Given the description of an element on the screen output the (x, y) to click on. 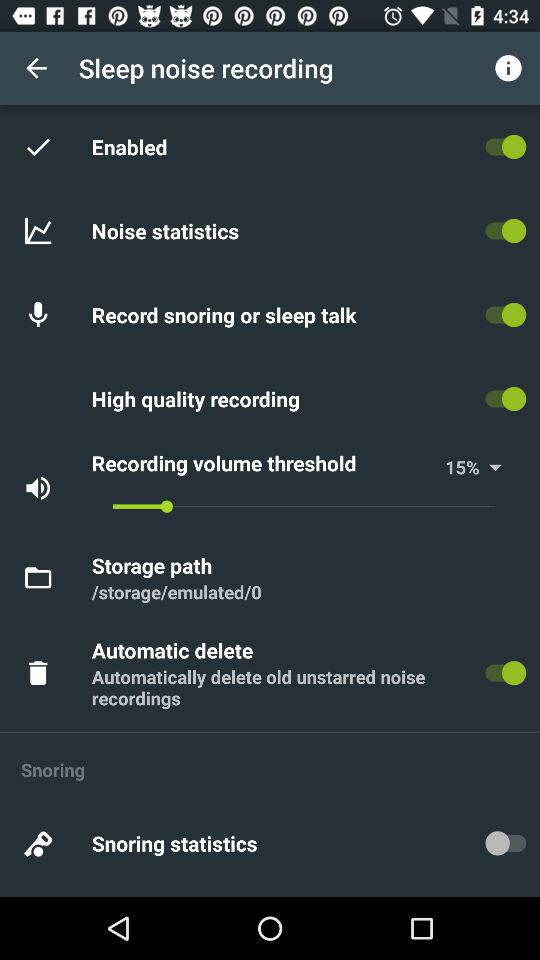
flip to /storage/emulated/0 (176, 591)
